Given the description of an element on the screen output the (x, y) to click on. 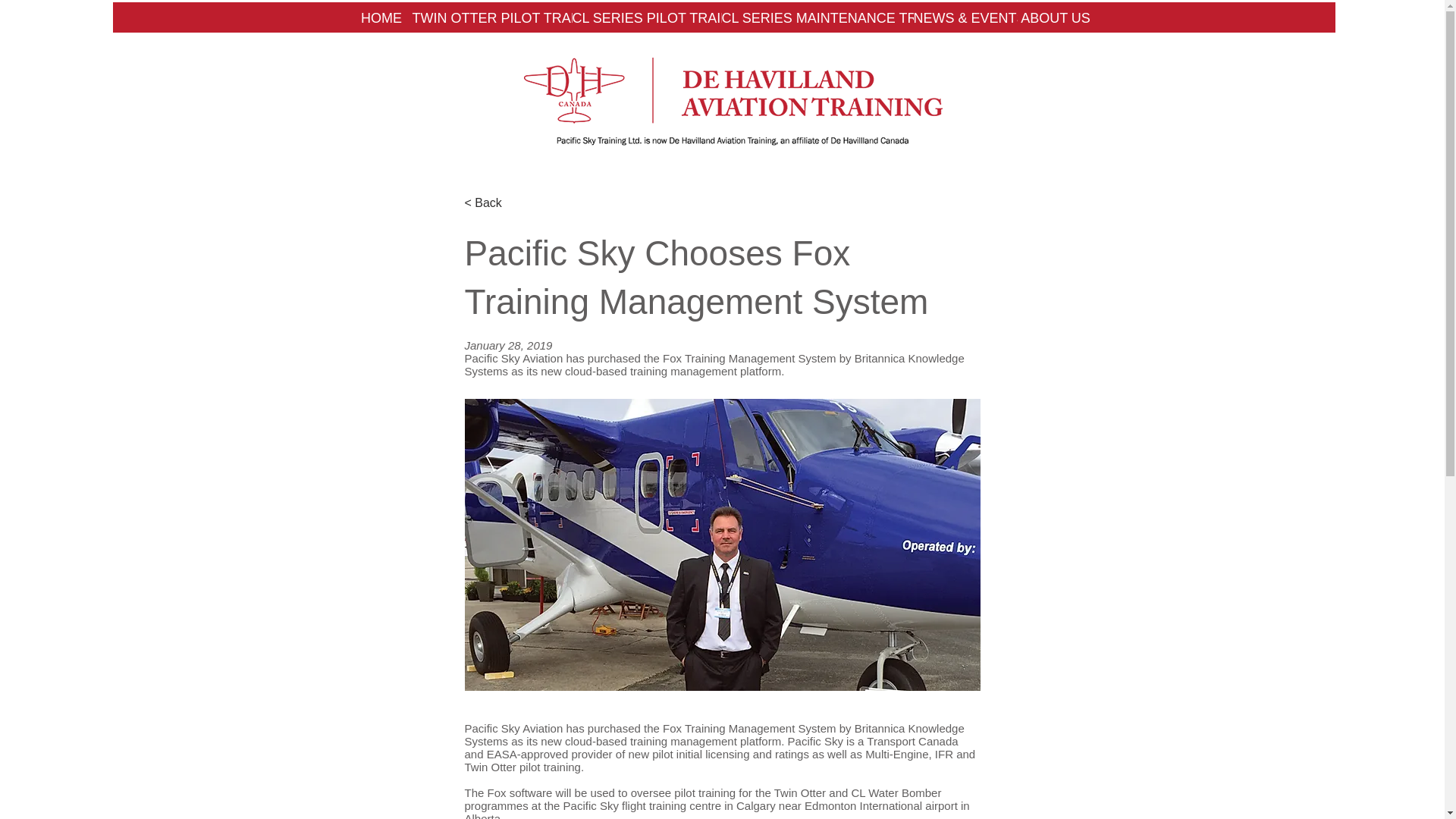
TWIN OTTER PILOT TRAINING (492, 18)
CL SERIES MAINTENANCE TRAINING (818, 18)
ABOUT US (1055, 18)
CL SERIES PILOT TRAINING (646, 18)
HOME (381, 18)
